Given the description of an element on the screen output the (x, y) to click on. 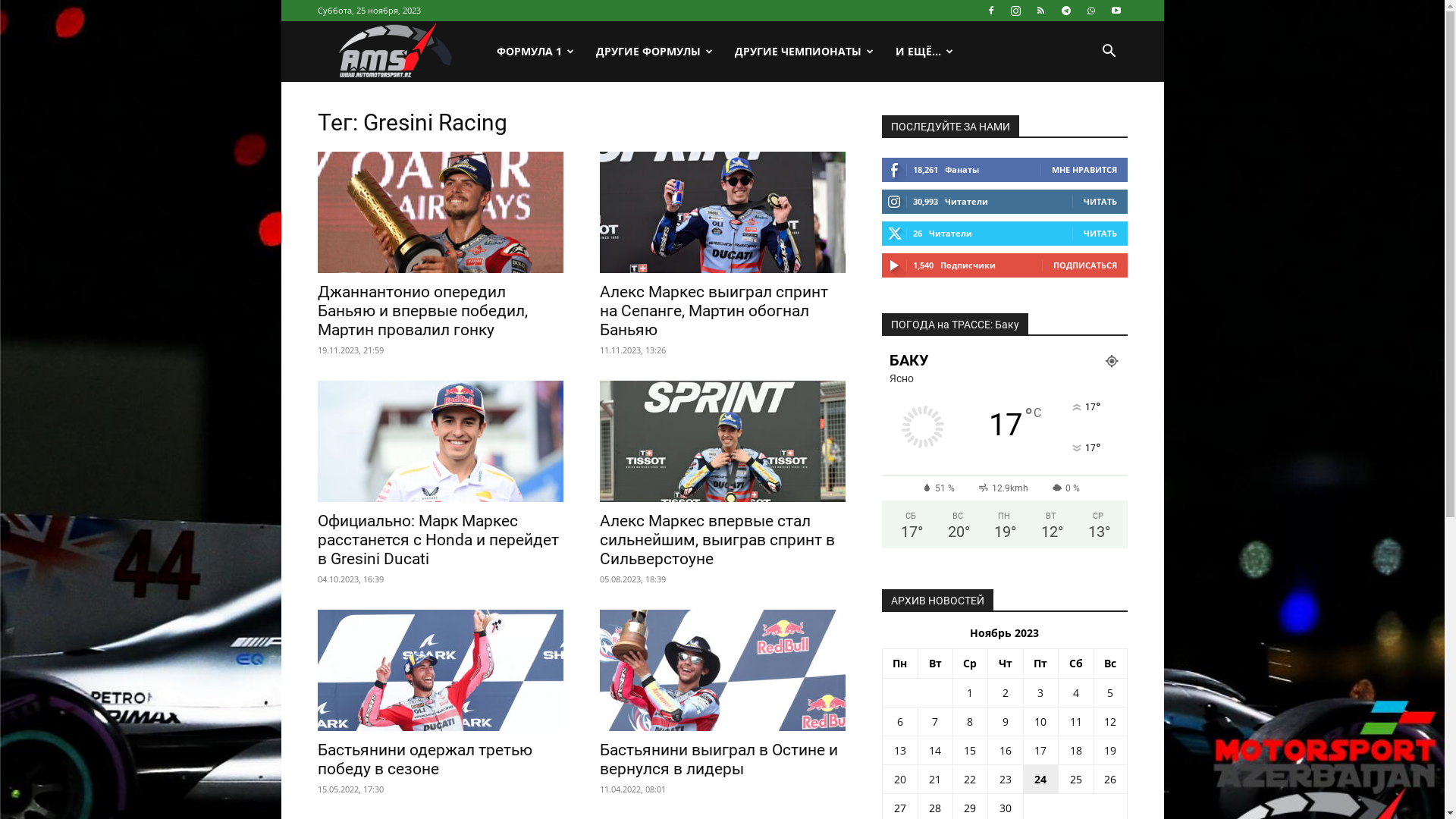
Instagram Element type: hover (1015, 10)
16 Element type: text (1005, 750)
1 Element type: text (969, 692)
17 Element type: text (1040, 750)
12 Element type: text (1110, 721)
Facebook Element type: hover (990, 10)
8 Element type: text (969, 721)
3 Element type: text (1040, 692)
Youtube Element type: hover (1115, 10)
22 Element type: text (969, 778)
9 Element type: text (1005, 721)
15 Element type: text (969, 750)
19 Element type: text (1110, 750)
7 Element type: text (934, 721)
4 Element type: text (1076, 692)
5 Element type: text (1110, 692)
RSS Element type: hover (1040, 10)
WhatsApp Element type: hover (1090, 10)
Telegram Element type: hover (1065, 10)
10 Element type: text (1040, 721)
2 Element type: text (1005, 692)
18 Element type: text (1076, 750)
20 Element type: text (900, 778)
21 Element type: text (934, 778)
11 Element type: text (1076, 721)
23 Element type: text (1005, 778)
AutoMotorSport Azerbaijan Element type: text (400, 51)
6 Element type: text (900, 721)
13 Element type: text (900, 750)
14 Element type: text (934, 750)
